Given the description of an element on the screen output the (x, y) to click on. 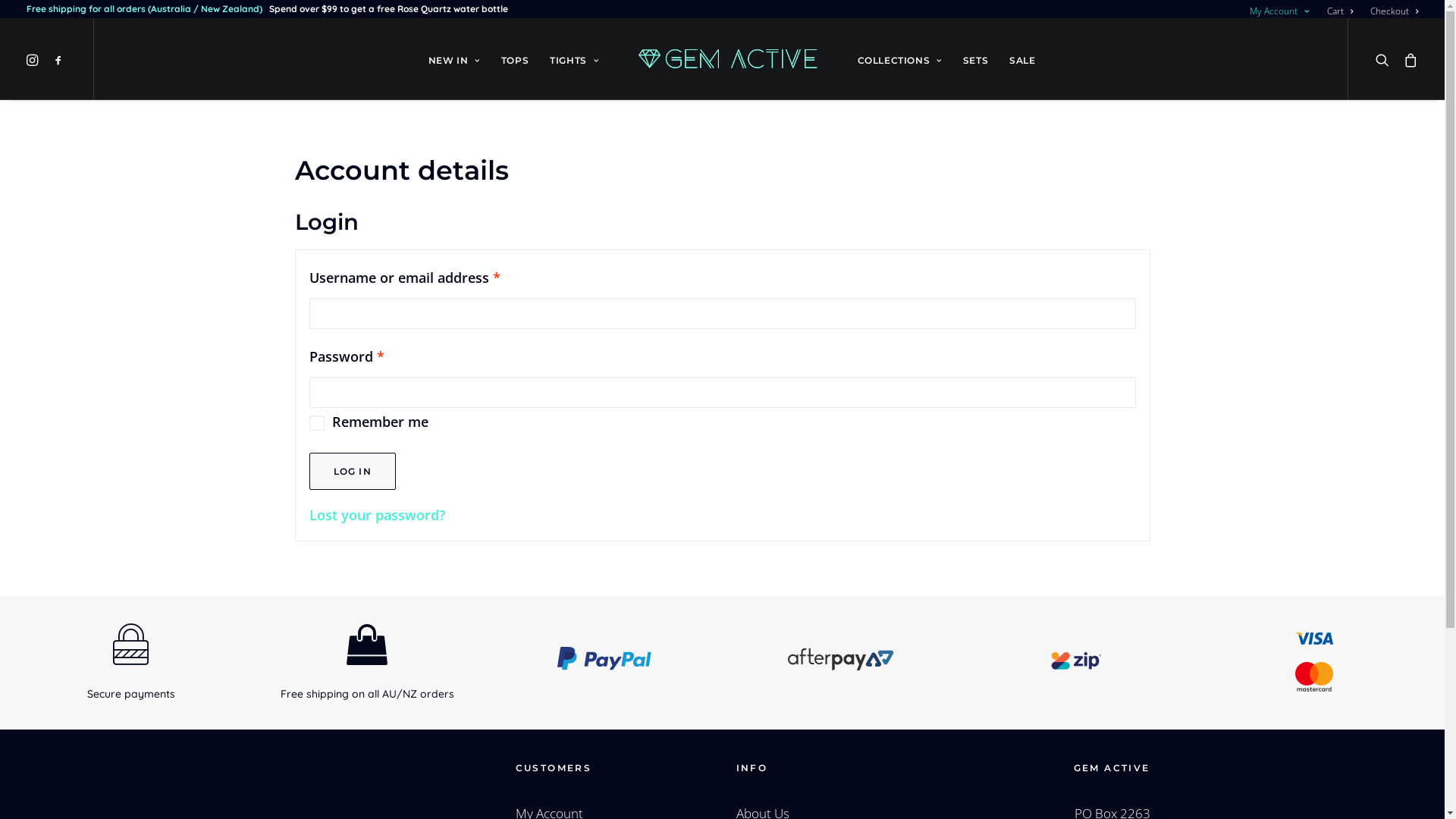
NEW IN Element type: text (453, 58)
TIGHTS Element type: text (573, 58)
My Account Element type: text (1282, 10)
cart Element type: hover (1407, 58)
Checkout Element type: text (1390, 10)
Cart Element type: text (1339, 10)
Lost your password? Element type: text (377, 514)
COLLECTIONS Element type: text (899, 58)
TOPS Element type: text (514, 58)
SALE Element type: text (1021, 58)
SETS Element type: text (975, 58)
LOG IN Element type: text (352, 470)
